Given the description of an element on the screen output the (x, y) to click on. 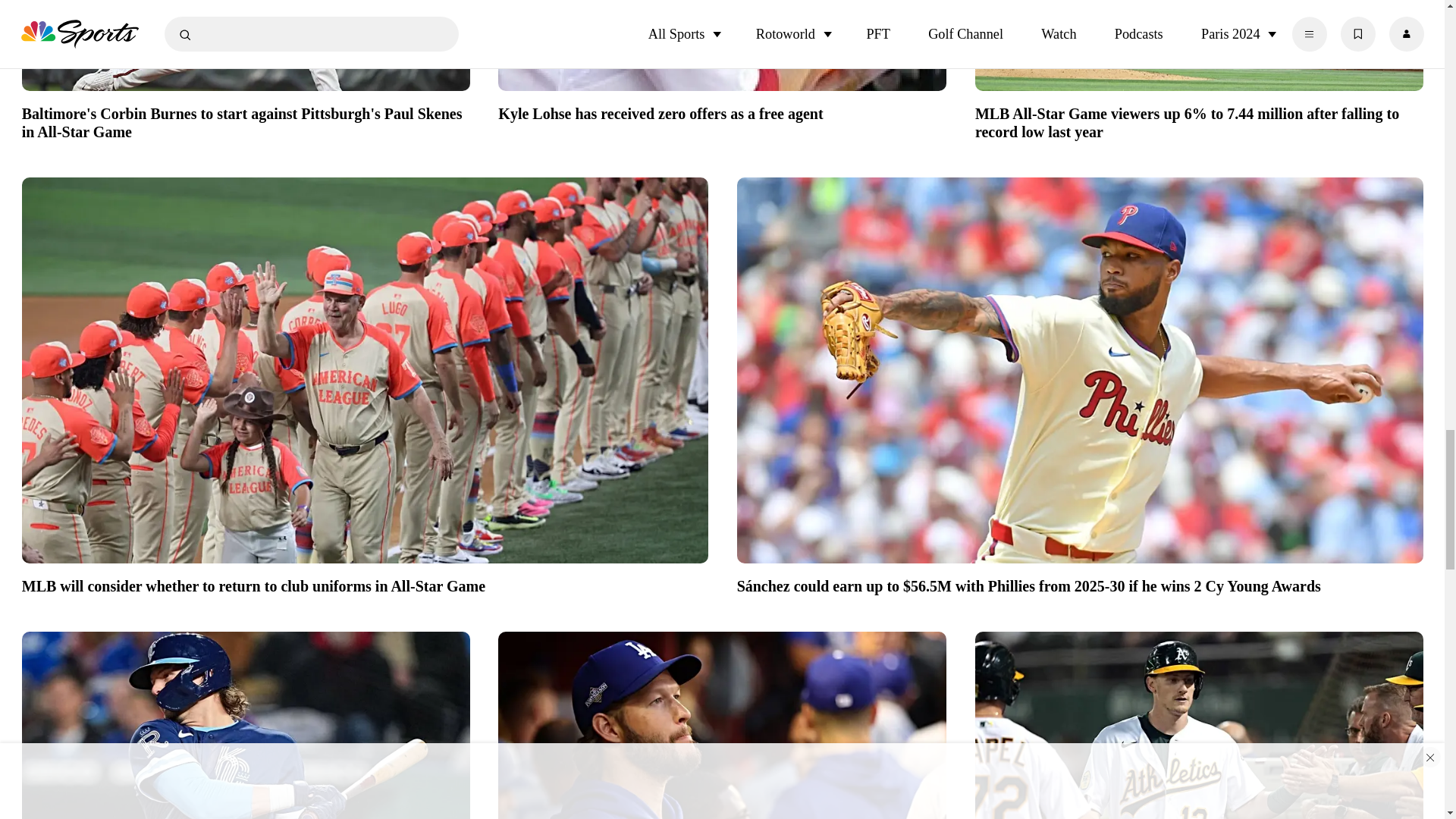
Kyle Lohse has received zero offers as a free agent (721, 110)
